Given the description of an element on the screen output the (x, y) to click on. 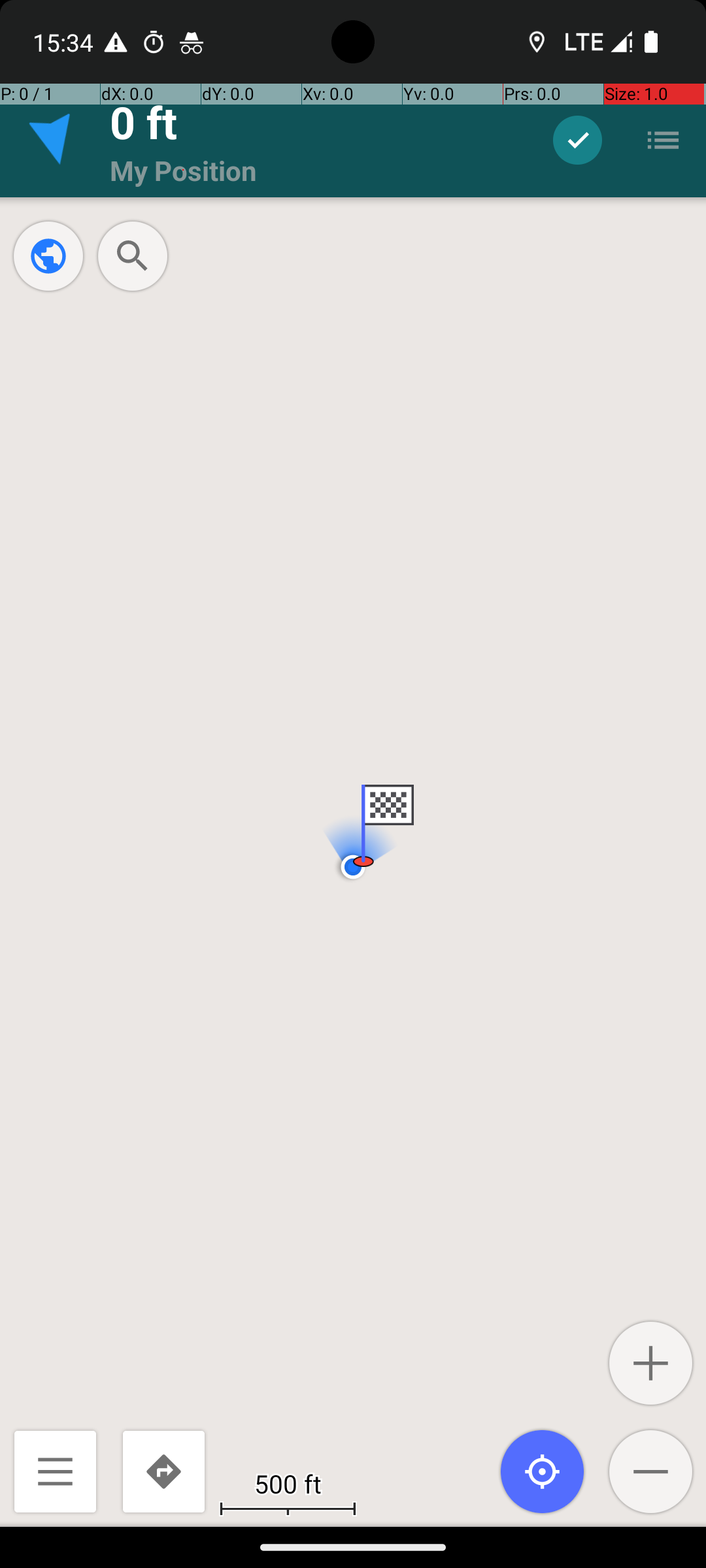
500 ft Element type: android.widget.TextView (287, 1483)
Where am I Element type: android.widget.ImageButton (542, 1471)
0 ft Element type: android.widget.TextView (143, 121)
My Position Element type: android.widget.TextView (182, 169)
Move to history Element type: android.widget.ImageButton (577, 139)
More… Element type: android.widget.ImageButton (663, 139)
